Given the description of an element on the screen output the (x, y) to click on. 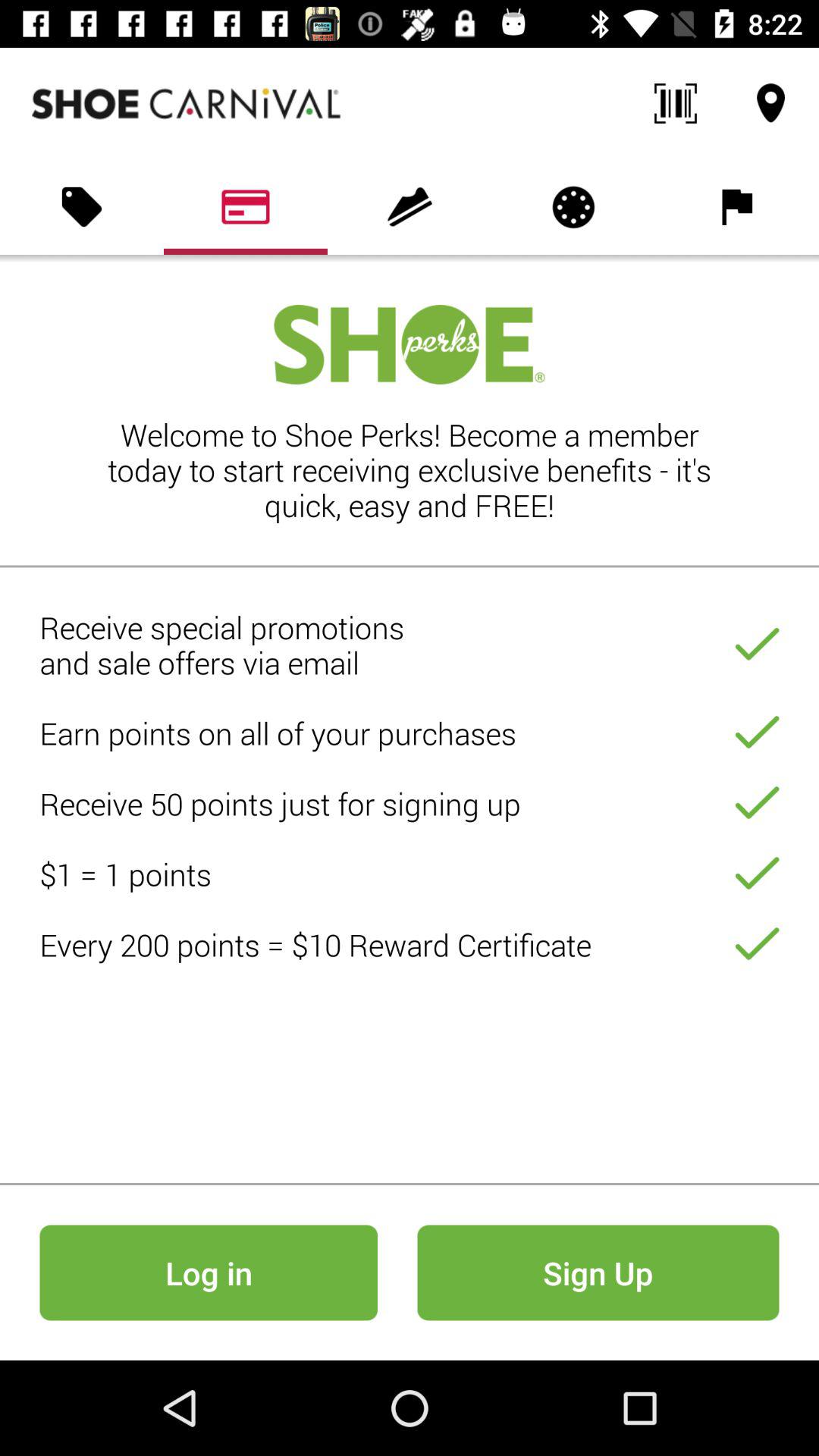
jump until the sign up item (598, 1272)
